Given the description of an element on the screen output the (x, y) to click on. 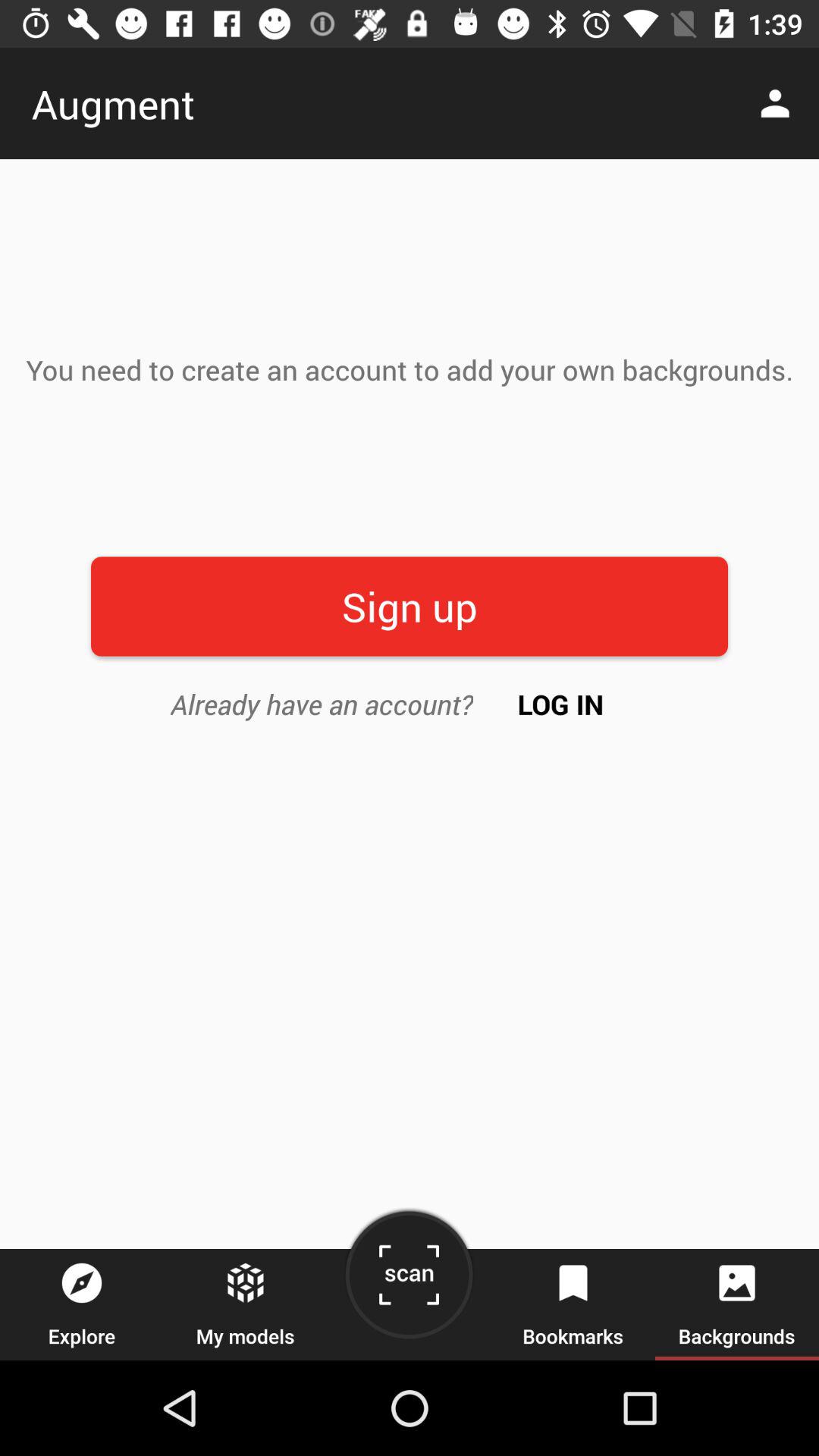
open the icon at the top right corner (779, 103)
